Given the description of an element on the screen output the (x, y) to click on. 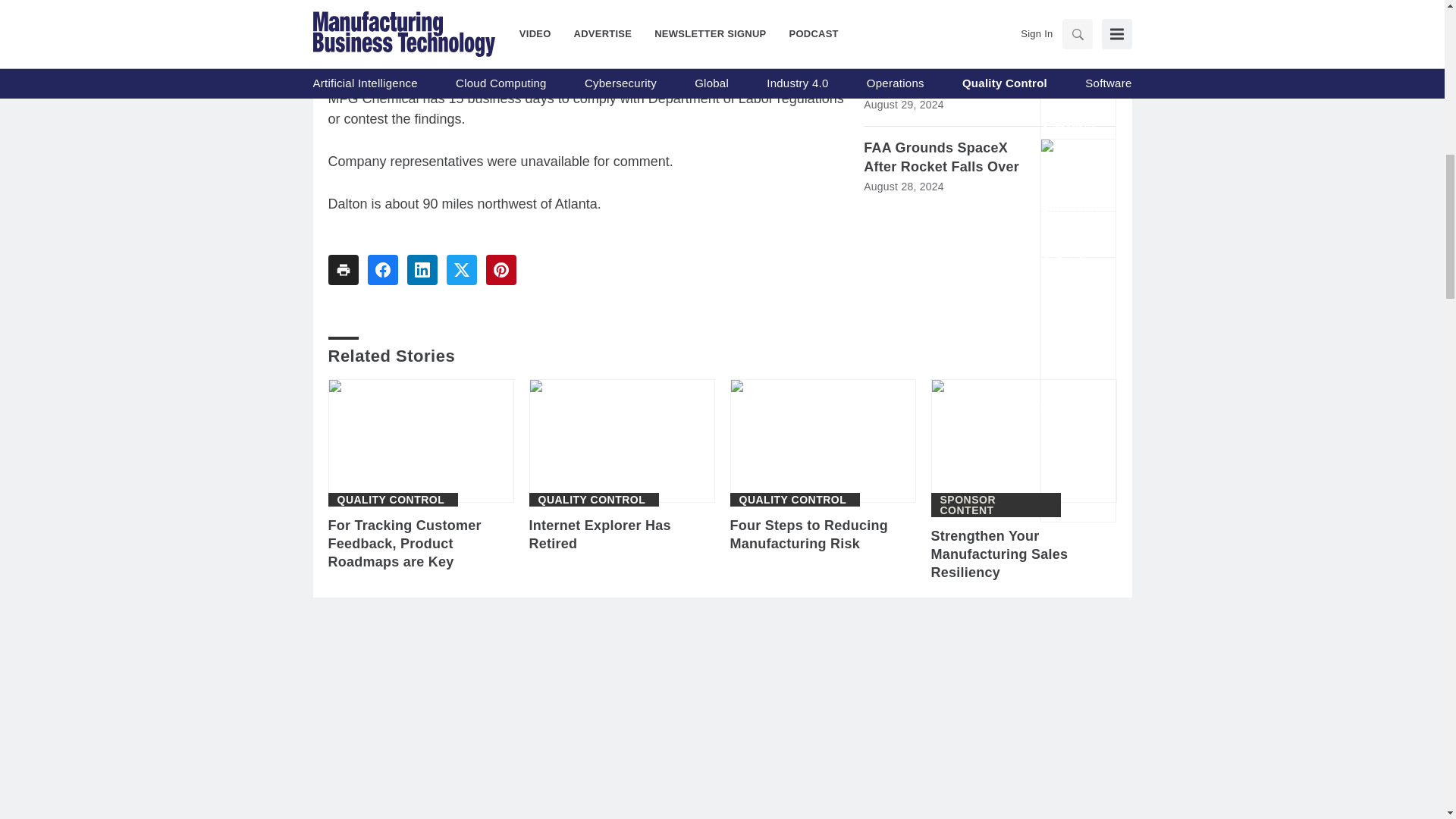
Sponsor Content (996, 504)
Share To twitter (460, 269)
Quality Control (791, 499)
Share To linkedin (421, 269)
Share To print (342, 269)
Share To facebook (381, 269)
Quality Control (592, 499)
Quality Control (390, 499)
Share To pinterest (499, 269)
